Given the description of an element on the screen output the (x, y) to click on. 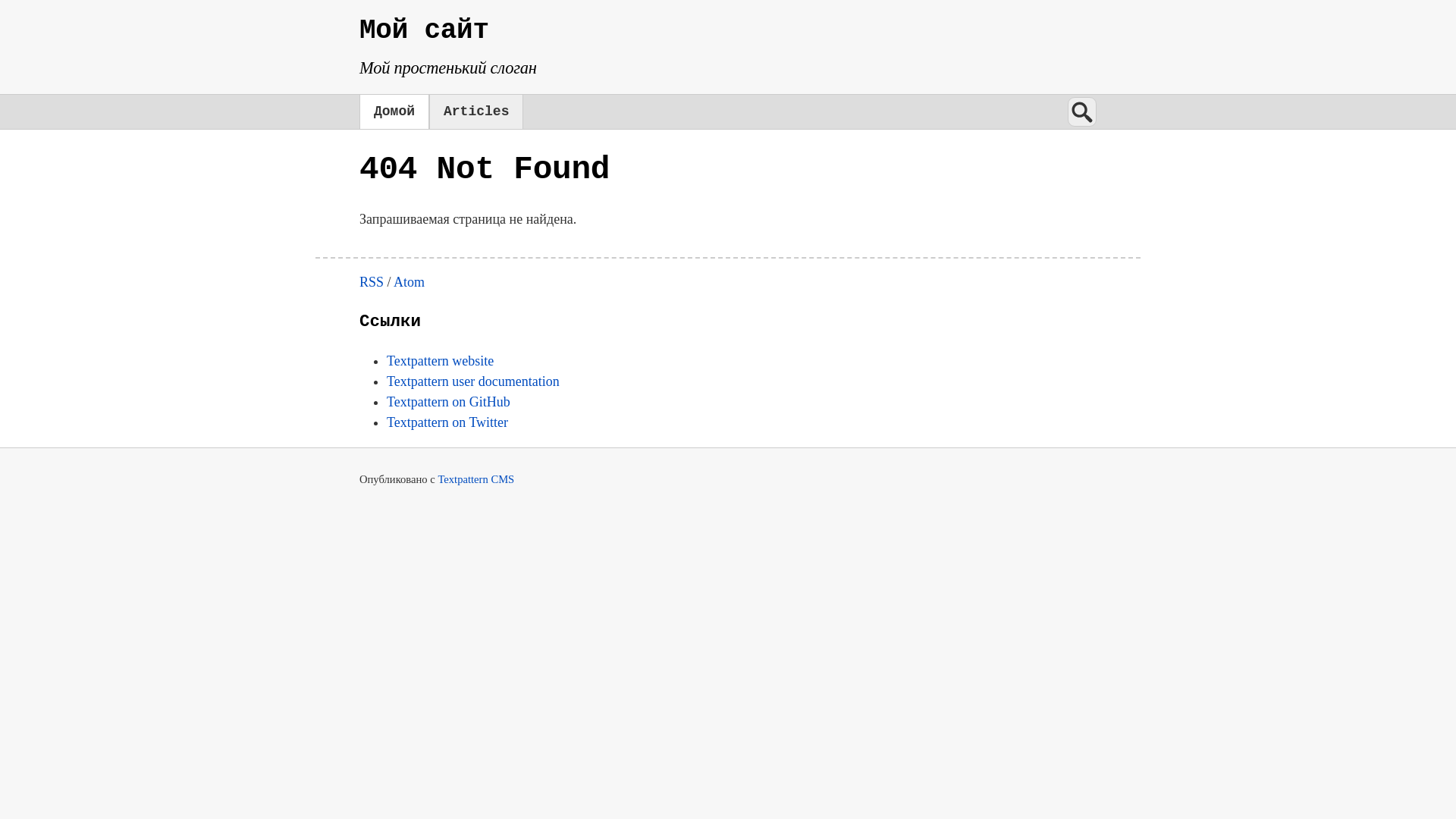
Articles Element type: text (475, 111)
Textpattern CMS Element type: text (475, 479)
Textpattern on Twitter Element type: text (447, 421)
Textpattern website Element type: text (439, 360)
Atom Element type: text (408, 281)
Textpattern on GitHub Element type: text (448, 401)
RSS Element type: text (371, 281)
Textpattern user documentation Element type: text (472, 381)
